Given the description of an element on the screen output the (x, y) to click on. 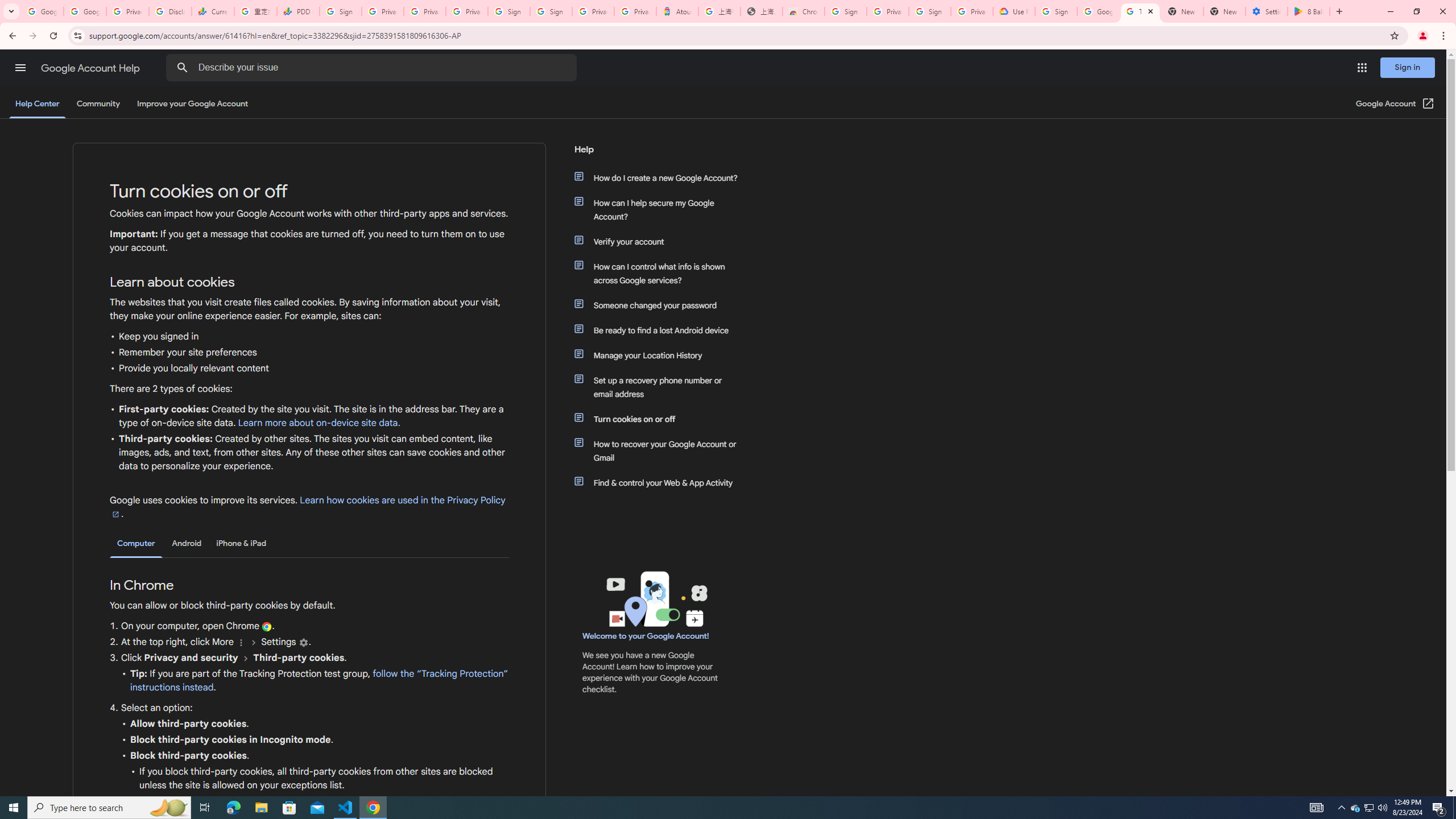
Search Help Center (181, 67)
Atour Hotel - Google hotels (676, 11)
Currencies - Google Finance (212, 11)
Google Account Help (1097, 11)
Help Center (36, 103)
Learn more about on-device site data. (318, 423)
Sign in - Google Accounts (930, 11)
and then (245, 657)
Help (656, 153)
